Given the description of an element on the screen output the (x, y) to click on. 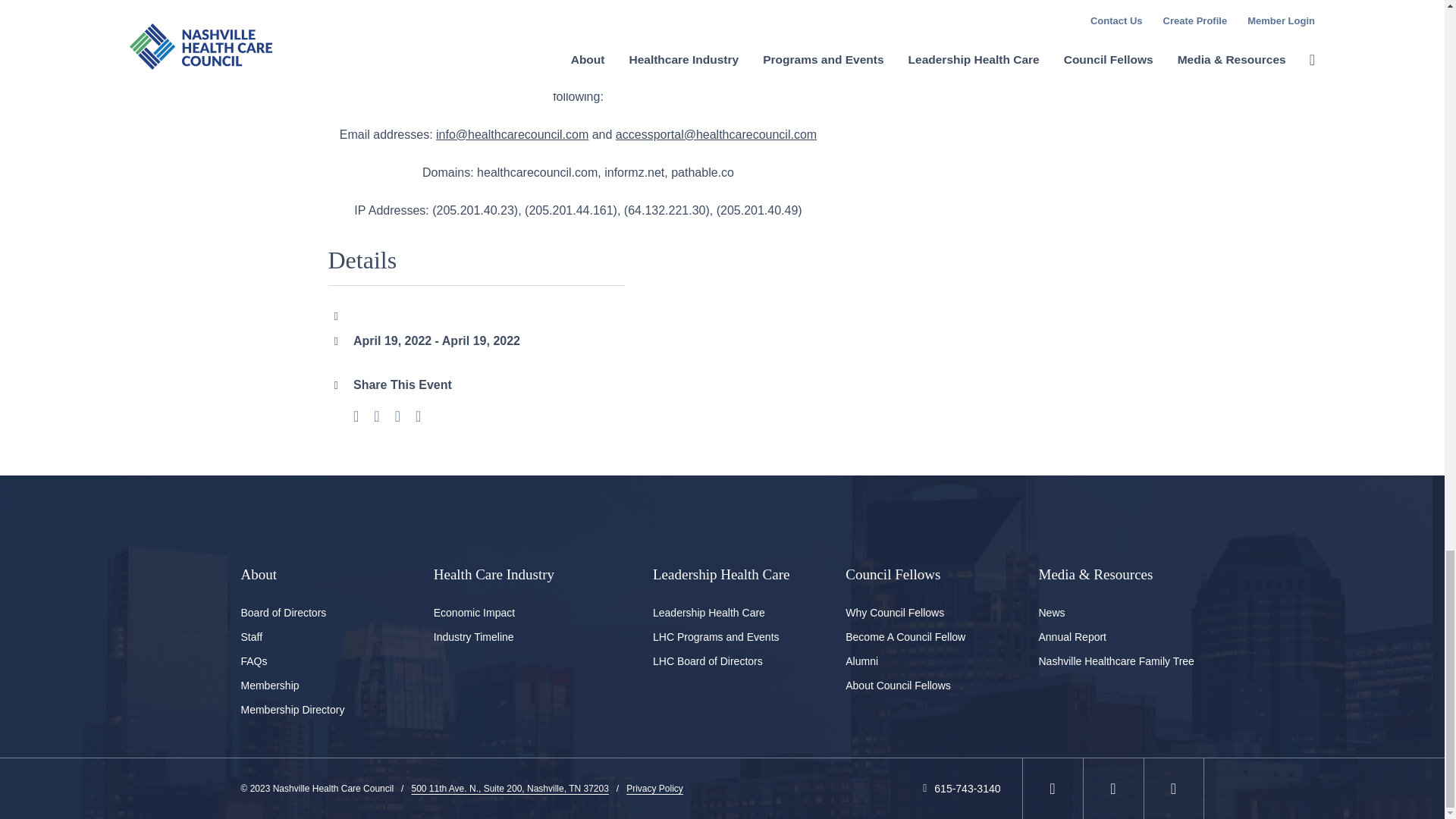
Share (417, 416)
LinkedIn (1051, 788)
Twitter (1112, 788)
LinkedIn (397, 416)
Youtube (1173, 788)
Facebook (355, 416)
Twitter (376, 416)
